Given the description of an element on the screen output the (x, y) to click on. 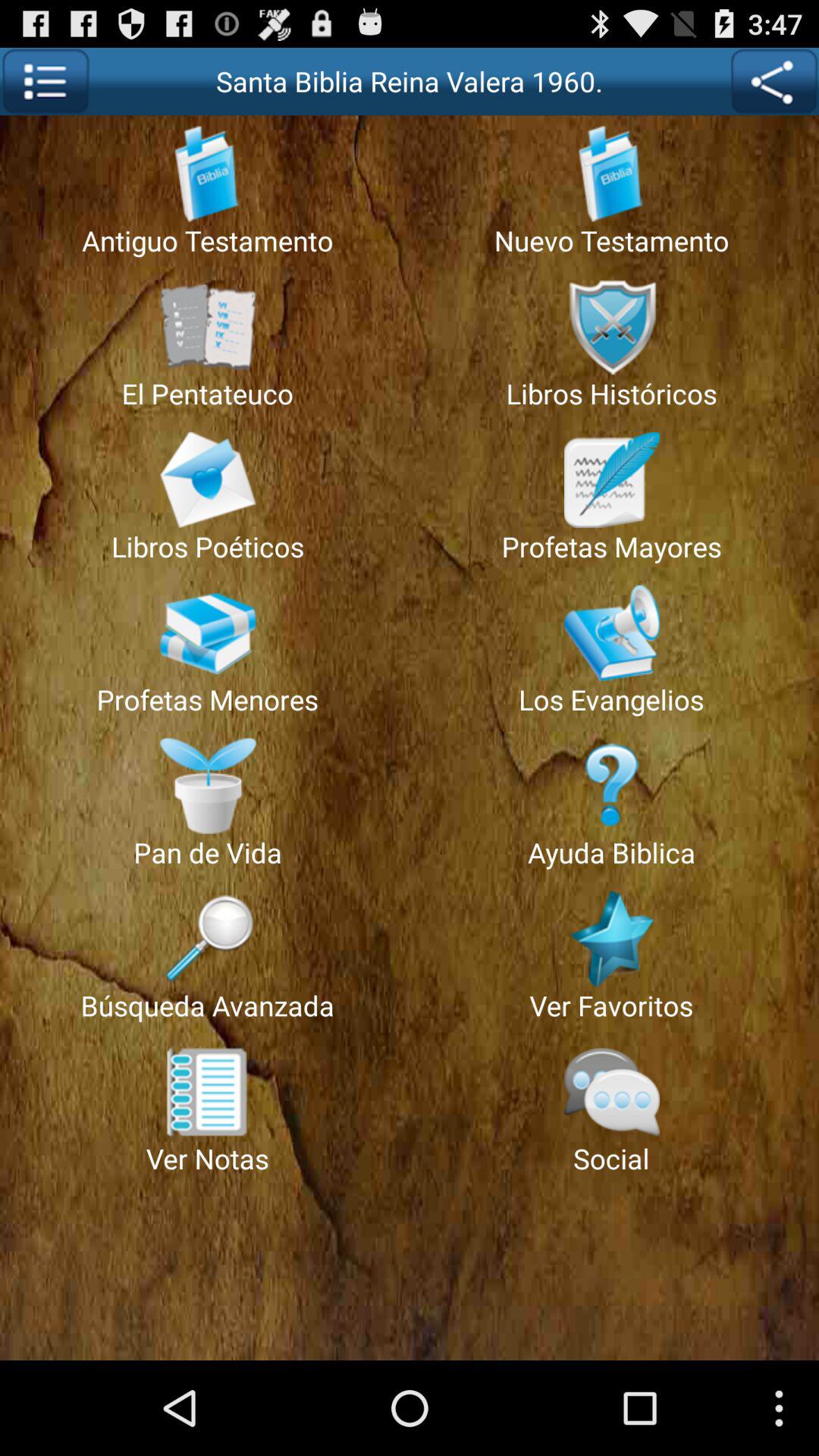
show map (773, 81)
